Given the description of an element on the screen output the (x, y) to click on. 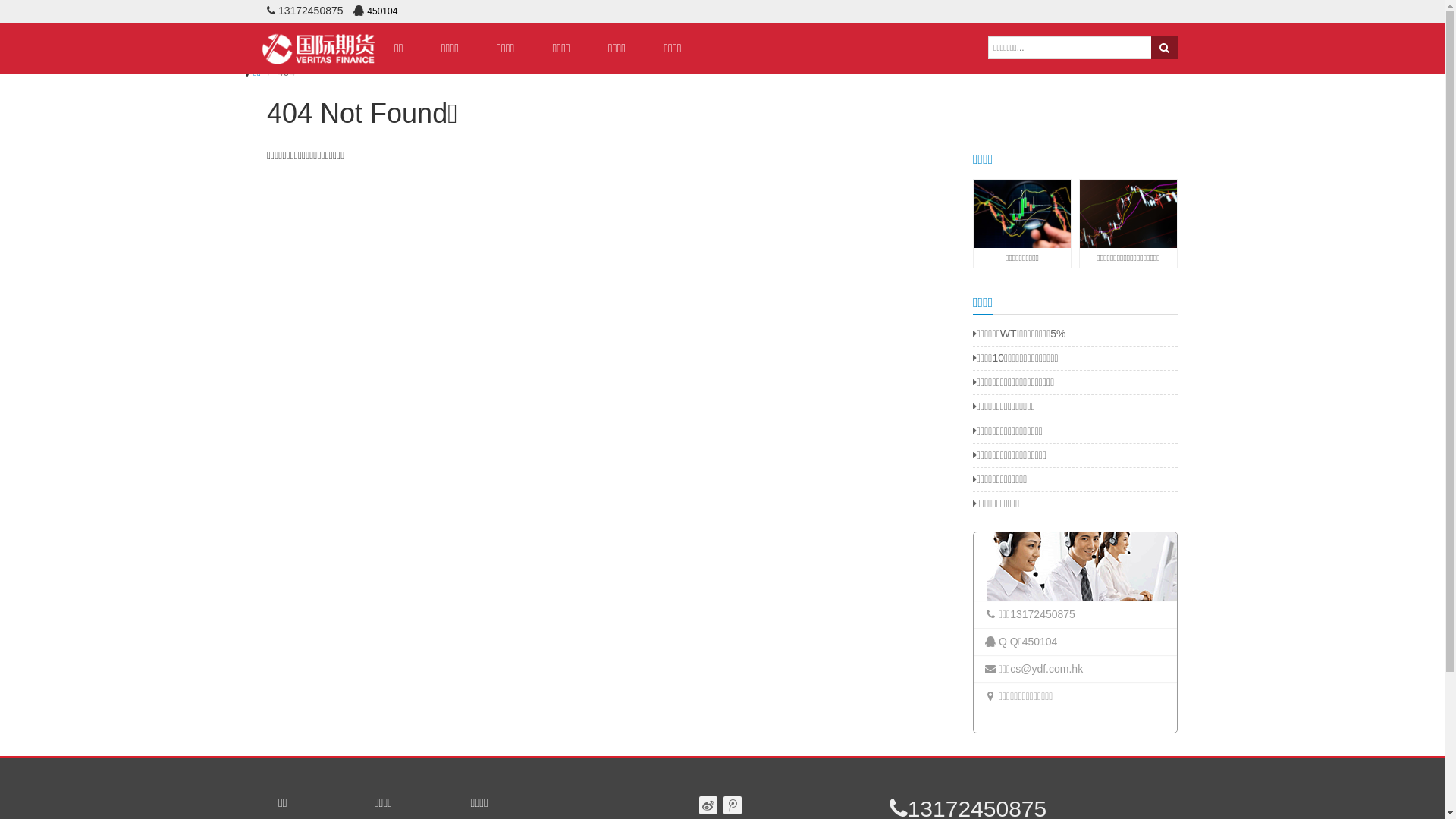
450104 Element type: text (382, 11)
450104 Element type: text (1039, 641)
